Given the description of an element on the screen output the (x, y) to click on. 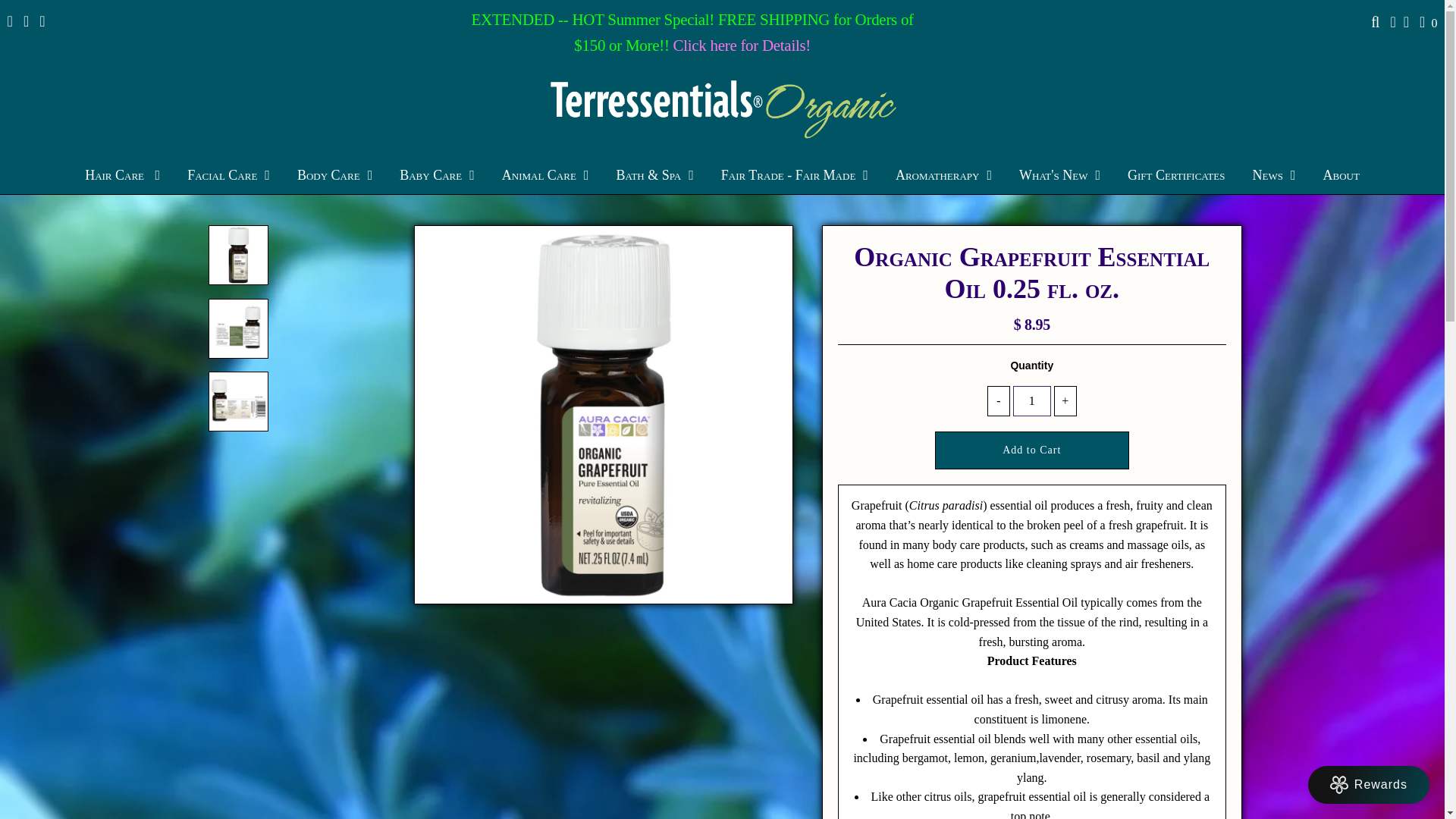
1 (1032, 400)
Add to Cart (1031, 450)
Specials (741, 45)
  0 (1428, 22)
Baby Care (436, 175)
Animal Care (545, 175)
Facial Care (228, 175)
Body Care (334, 175)
Click here for Details! (741, 45)
Fair Trade - Fair Made (794, 175)
Hair Care (121, 175)
